Given the description of an element on the screen output the (x, y) to click on. 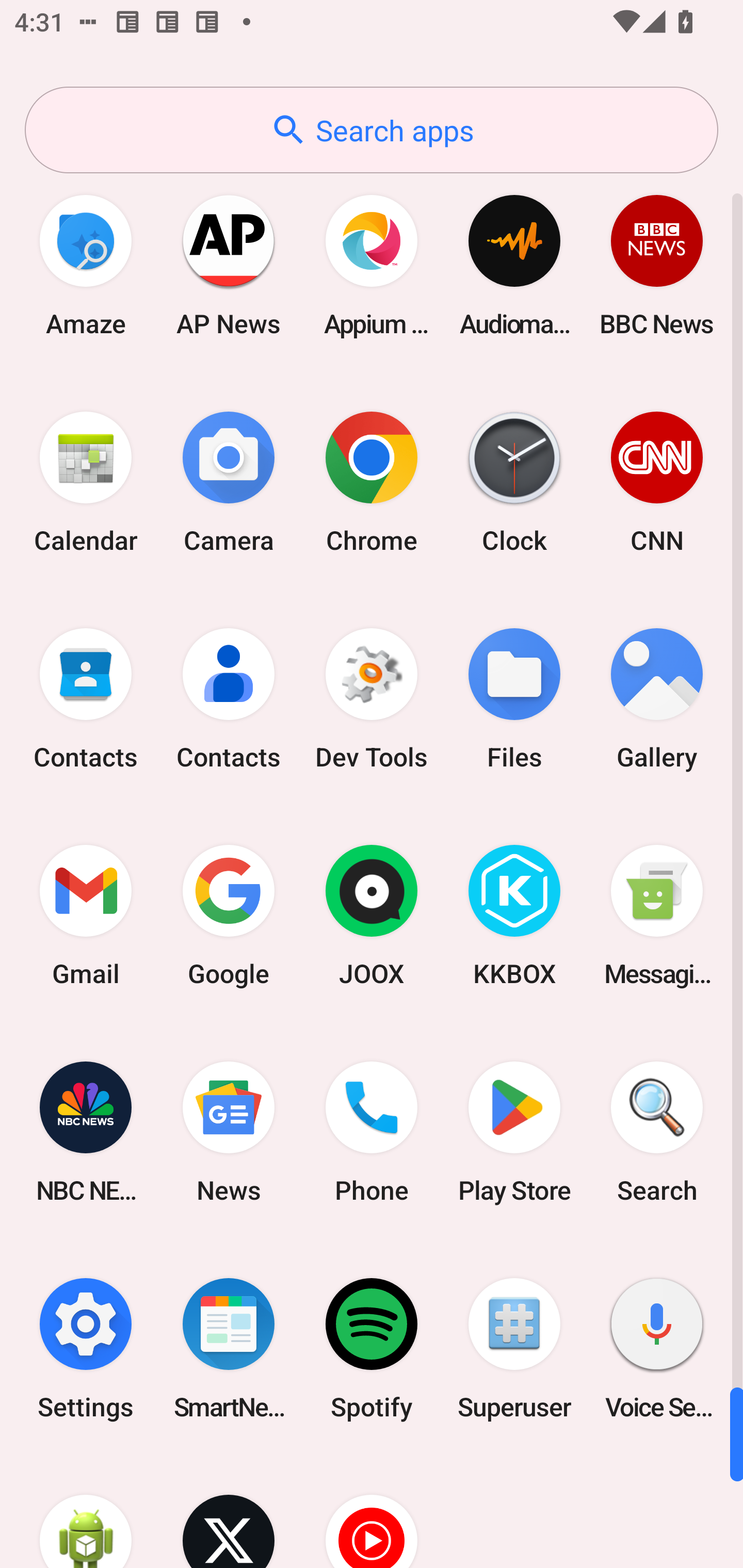
  Search apps (371, 130)
Amaze (85, 264)
AP News (228, 264)
Appium Settings (371, 264)
Audio­mack (514, 264)
BBC News (656, 264)
Calendar (85, 482)
Camera (228, 482)
Chrome (371, 482)
Clock (514, 482)
CNN (656, 482)
Contacts (85, 699)
Contacts (228, 699)
Dev Tools (371, 699)
Files (514, 699)
Gallery (656, 699)
Gmail (85, 915)
Google (228, 915)
JOOX (371, 915)
KKBOX (514, 915)
Messaging (656, 915)
NBC NEWS (85, 1131)
News (228, 1131)
Phone (371, 1131)
Play Store (514, 1131)
Search (656, 1131)
Settings (85, 1348)
SmartNews (228, 1348)
Spotify (371, 1348)
Superuser (514, 1348)
Voice Search (656, 1348)
WebView Browser Tester (85, 1512)
X (228, 1512)
YT Music (371, 1512)
